Given the description of an element on the screen output the (x, y) to click on. 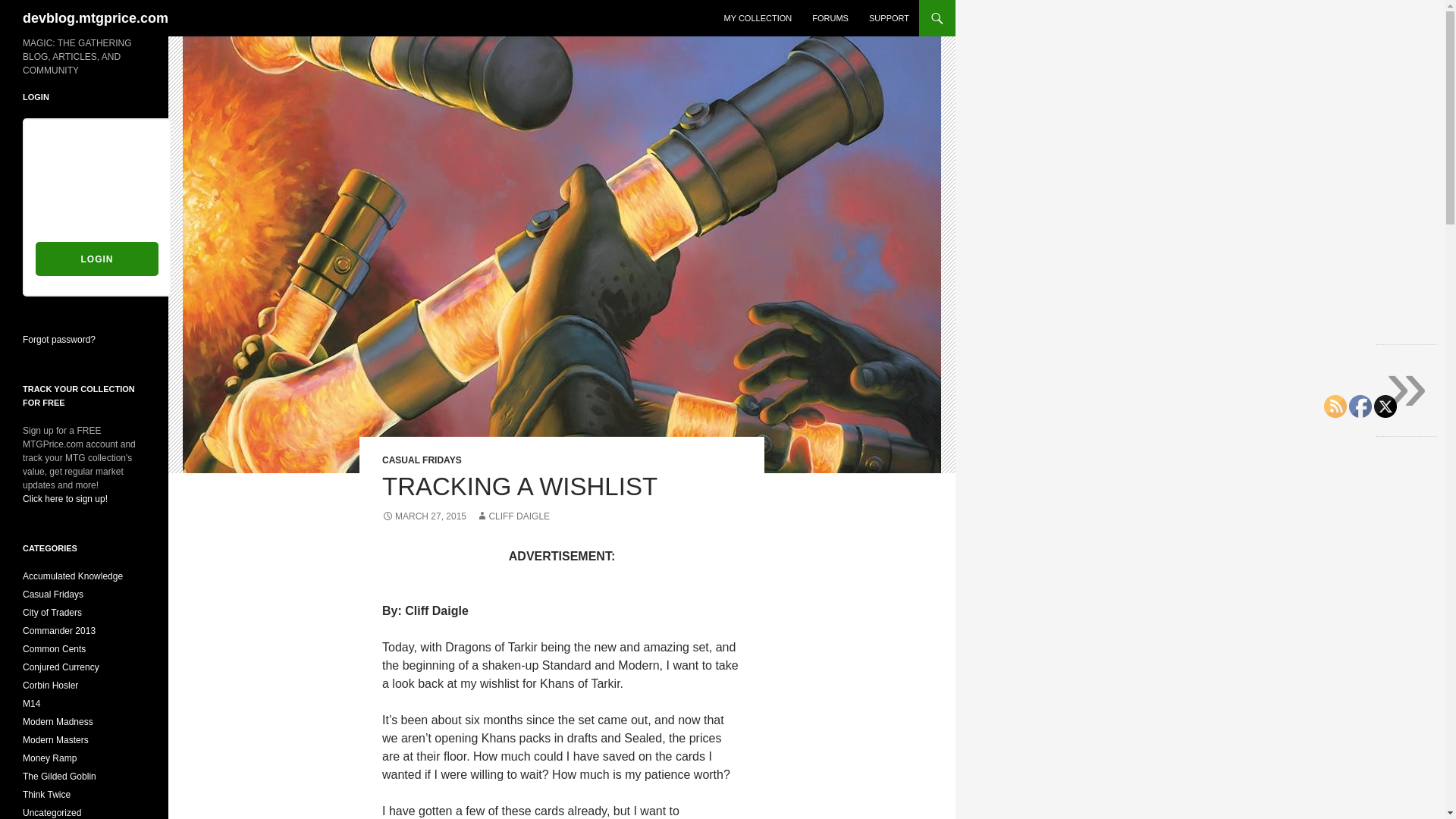
MY COLLECTION (758, 18)
Casual Fridays (52, 593)
FORUMS (830, 18)
Commander 2013 (59, 630)
CASUAL FRIDAYS (421, 460)
Please enter password (96, 216)
Uncategorized (52, 812)
Common Cents (54, 648)
Facebook (1360, 404)
Click here to sign up! (65, 505)
Login (96, 258)
MARCH 27, 2015 (423, 516)
devblog.mtgprice.com (95, 18)
Modern Madness (58, 721)
Forgot password? (59, 339)
